Given the description of an element on the screen output the (x, y) to click on. 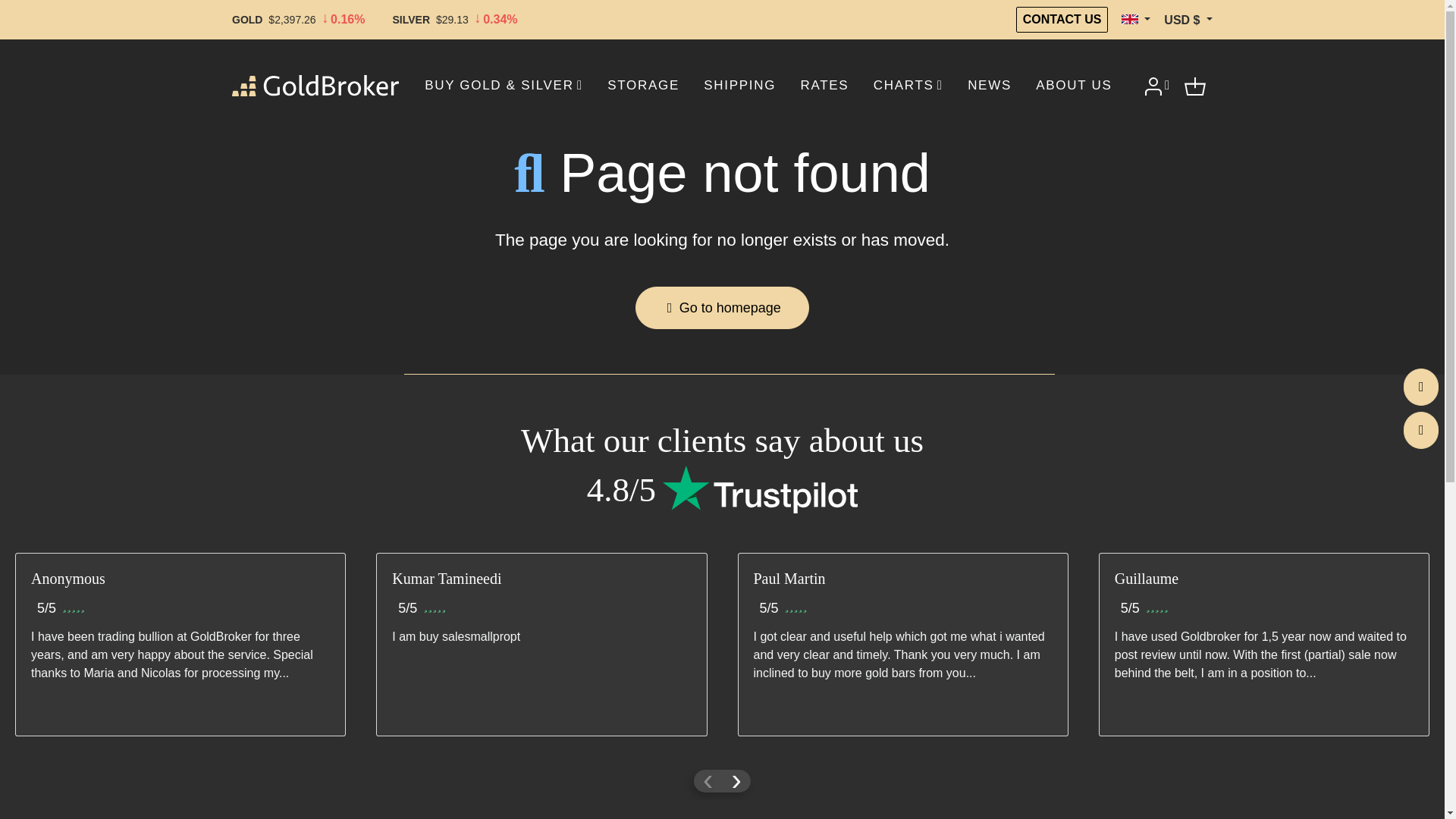
NEWS (988, 85)
RATES (824, 85)
United Kingdom (1129, 19)
CONTACT US (1062, 19)
Cart (1194, 85)
English (1135, 19)
US Dollar (1187, 19)
Contact Us (1420, 429)
ABOUT US (1073, 85)
Contact Us (1420, 386)
STORAGE (642, 85)
SHIPPING (740, 85)
CHARTS (908, 85)
